Given the description of an element on the screen output the (x, y) to click on. 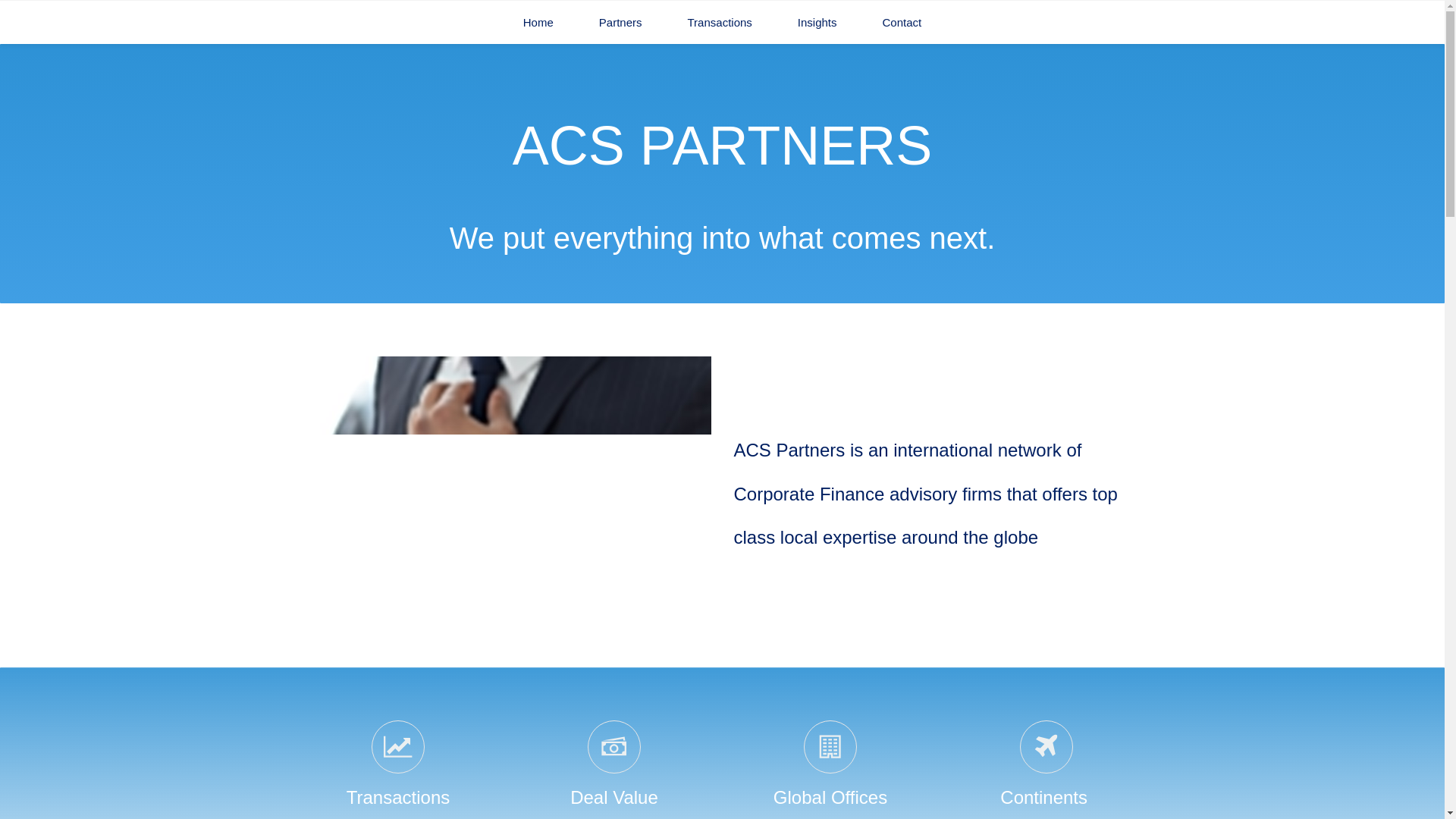
Transactions (719, 22)
Partners (620, 22)
Insights (817, 22)
Contact (901, 22)
